Given the description of an element on the screen output the (x, y) to click on. 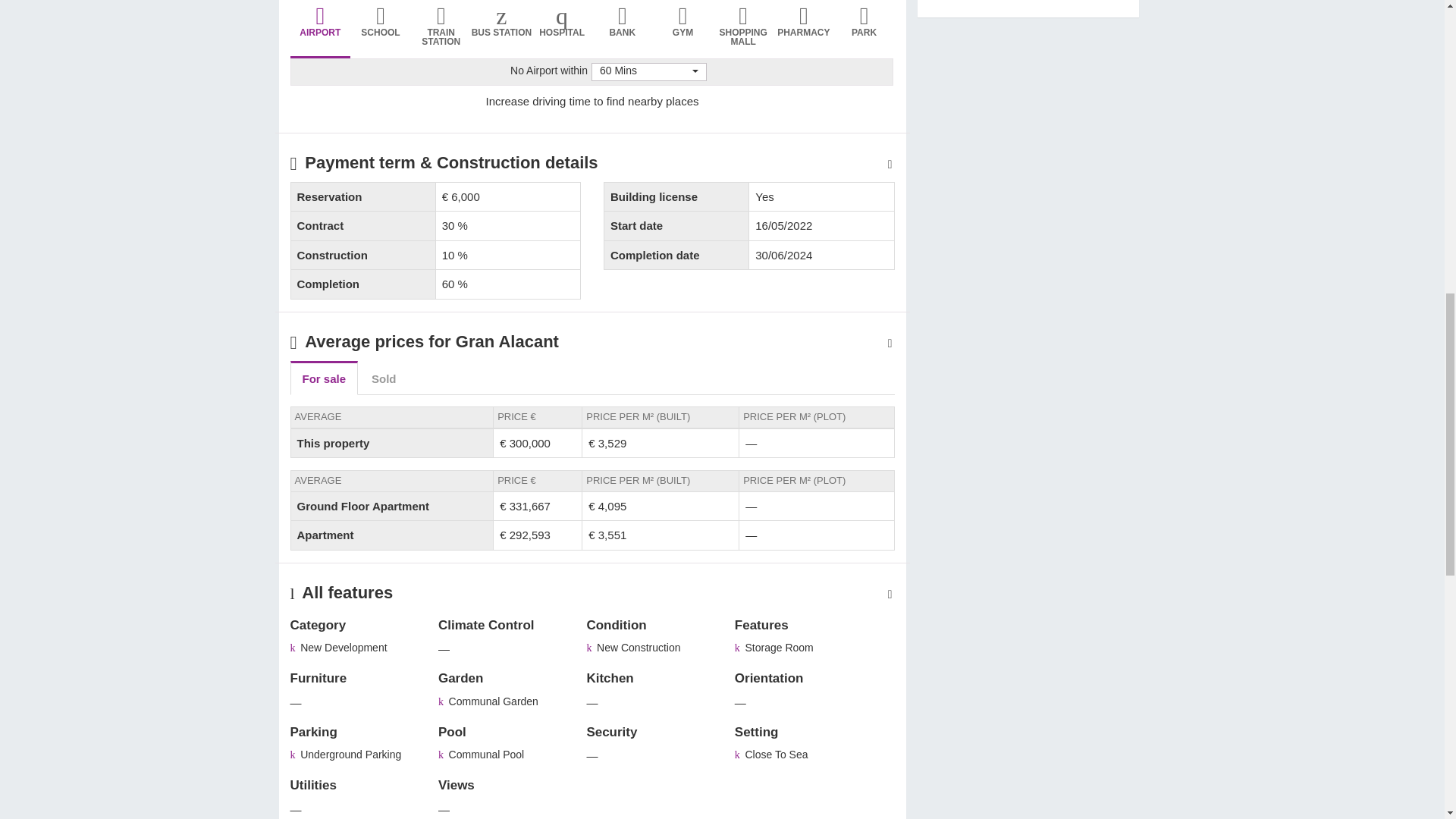
TRAIN STATION (440, 31)
For sale (323, 377)
HOSPITAL (561, 31)
BUS STATION (501, 31)
60 Mins (648, 72)
SHOPPING MALL (743, 31)
SCHOOL (380, 31)
Sold (384, 377)
PHARMACY (803, 31)
AIRPORT (319, 31)
BANK (622, 31)
PARK (864, 31)
GYM (682, 31)
